Given the description of an element on the screen output the (x, y) to click on. 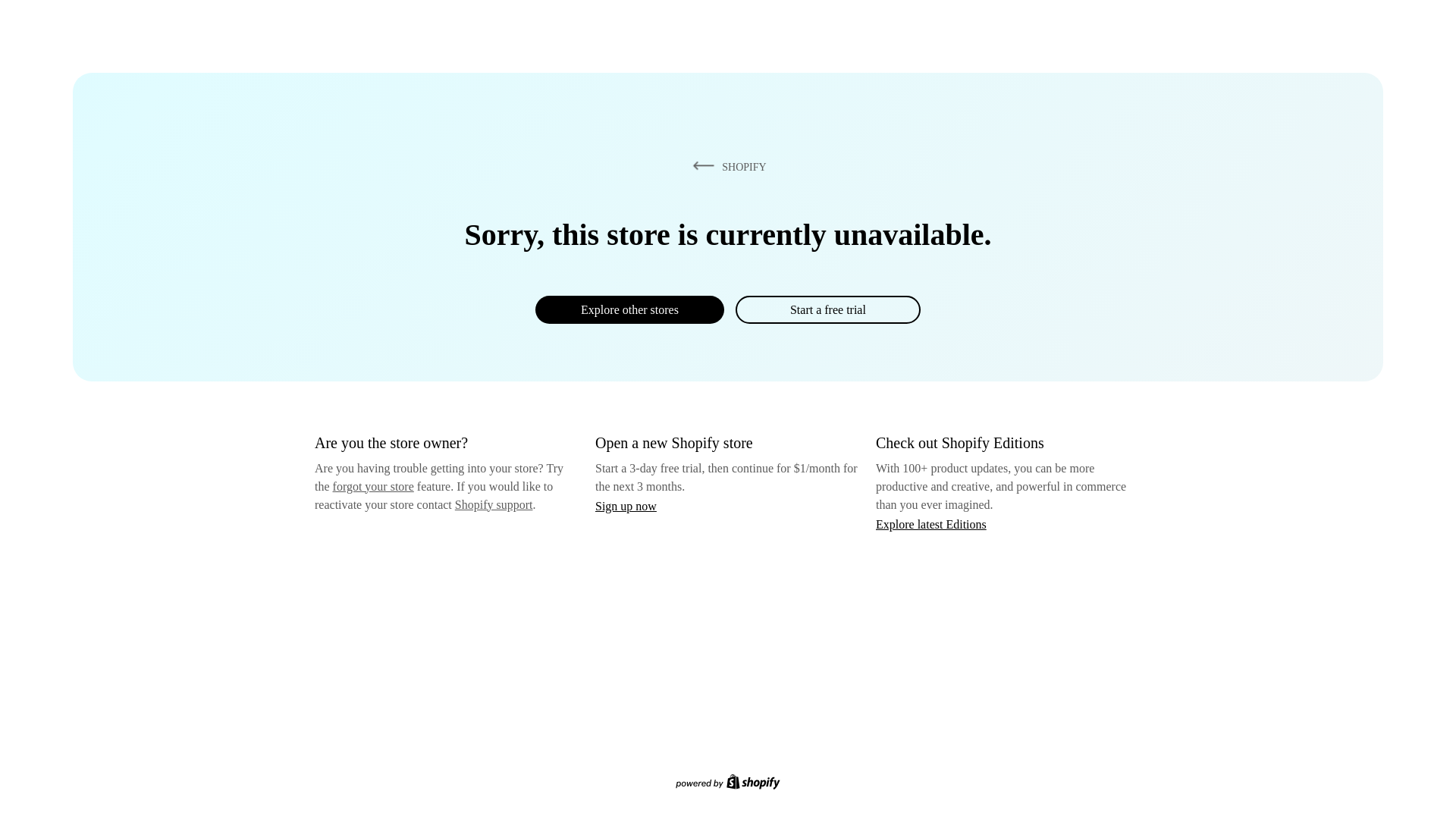
Explore other stores (629, 309)
Sign up now (625, 505)
Shopify support (493, 504)
SHOPIFY (726, 166)
Start a free trial (827, 309)
Explore latest Editions (931, 523)
forgot your store (373, 486)
